Given the description of an element on the screen output the (x, y) to click on. 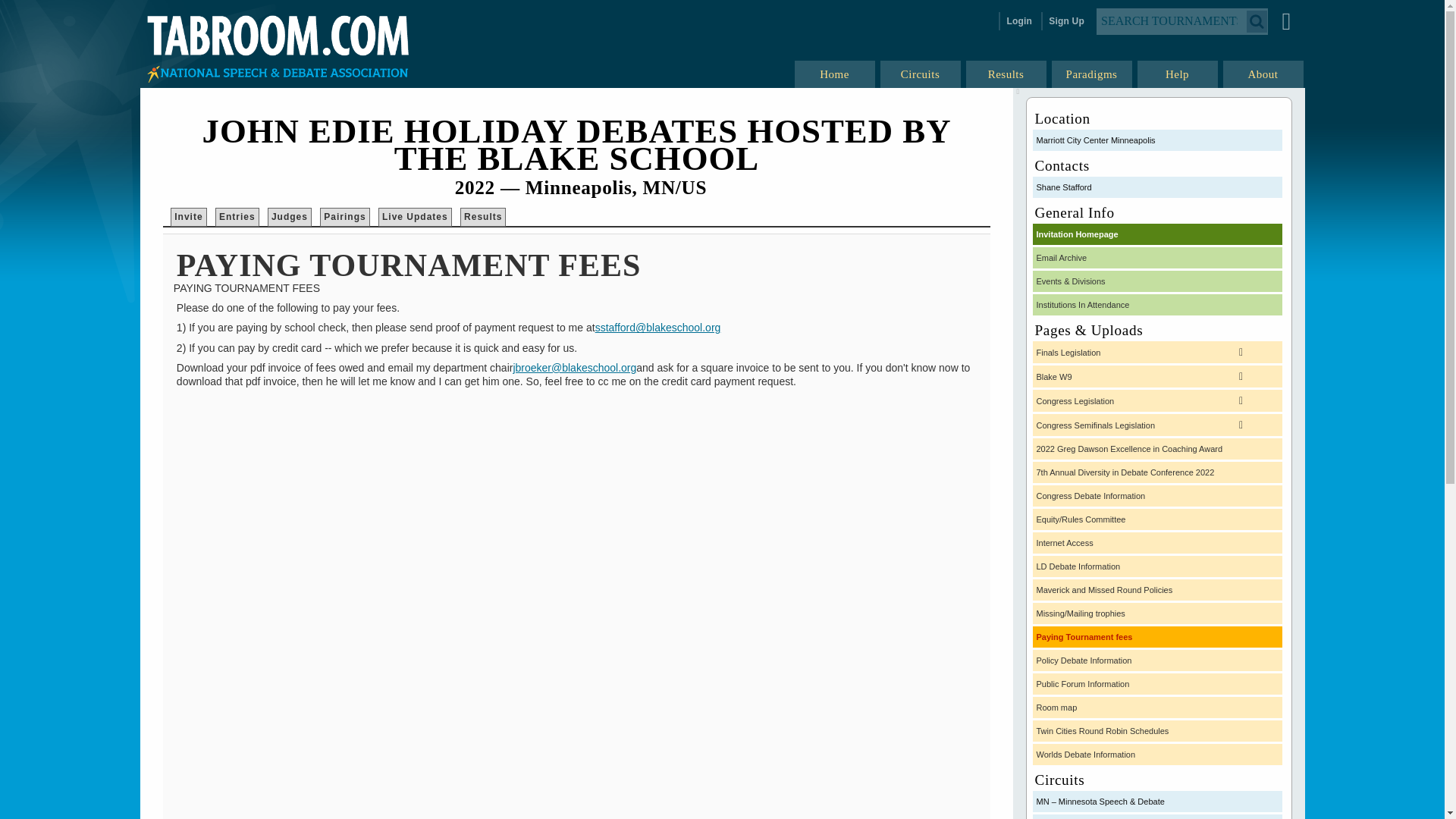
7th Annual Diversity in Debate Conference 2022 (1157, 472)
Congress Debate Information (1157, 495)
Pairings (344, 216)
Entries (237, 216)
Paradigms (1091, 73)
Login (1018, 21)
Judges (288, 216)
About (1263, 73)
Invitation Homepage (1157, 233)
2022 Greg Dawson Excellence in Coaching Award (1157, 448)
